Given the description of an element on the screen output the (x, y) to click on. 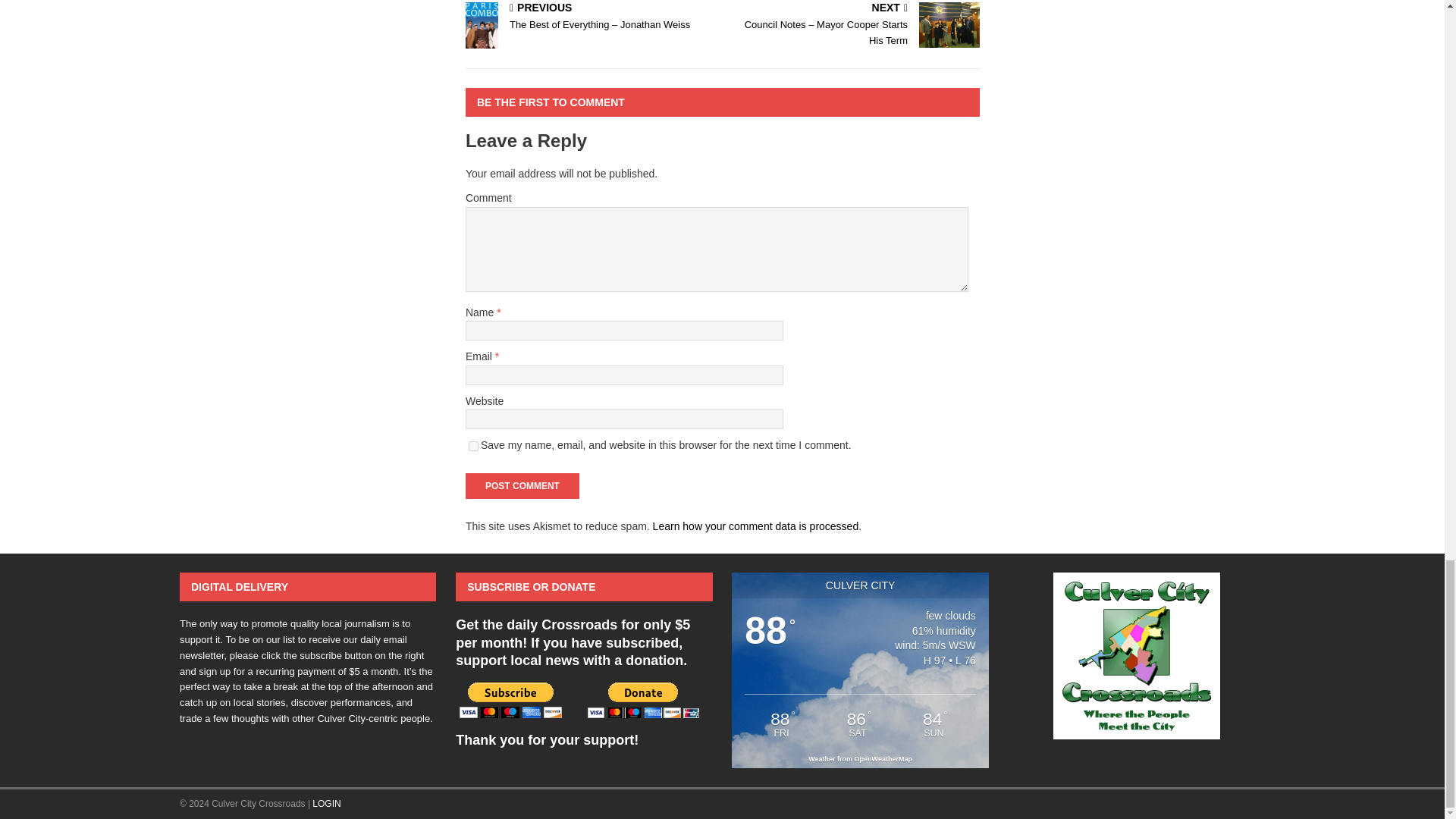
Post Comment (522, 485)
yes (473, 446)
